Given the description of an element on the screen output the (x, y) to click on. 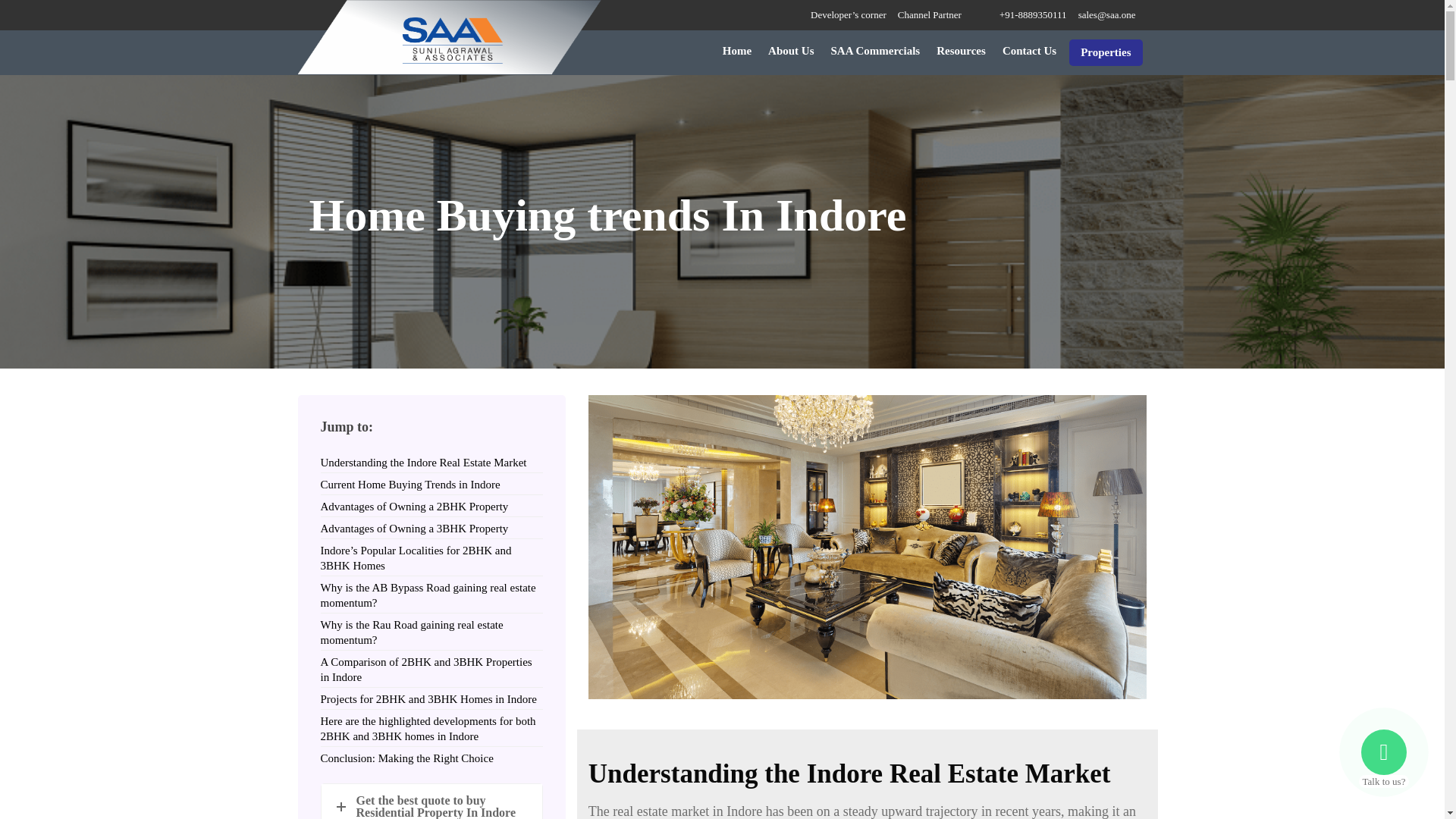
A Comparison of 2BHK and 3BHK Properties in Indore (425, 669)
About Us (790, 50)
SAA Commercials (875, 50)
Current Home Buying Trends in Indore (409, 484)
Conclusion: Making the Right Choice (406, 758)
Advantages of Owning a 2BHK Property (414, 506)
Properties (1104, 52)
Channel Partner (929, 15)
Understanding the Indore Real Estate Market (422, 462)
Get the best quote to buy Residential Property In Indore (431, 801)
Advantages of Owning a 3BHK Property (414, 528)
Resources (961, 50)
Contact Us (1028, 50)
Why is the Rau Road gaining real estate momentum? (411, 632)
